Given the description of an element on the screen output the (x, y) to click on. 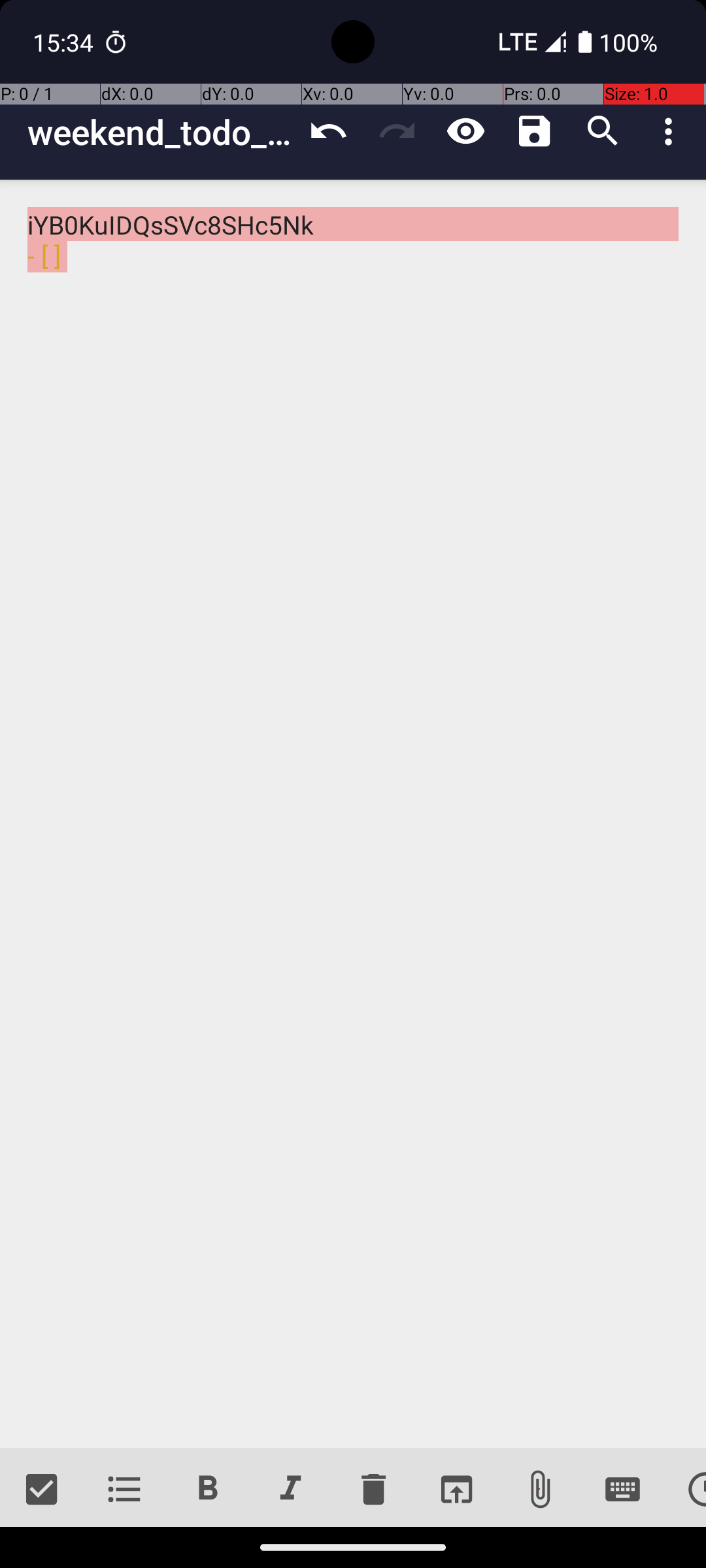
weekend_todo_list_copy Element type: android.widget.TextView (160, 131)
iYB0KuIDQsSVc8SHc5Nk
- [ ]  Element type: android.widget.EditText (353, 813)
